Given the description of an element on the screen output the (x, y) to click on. 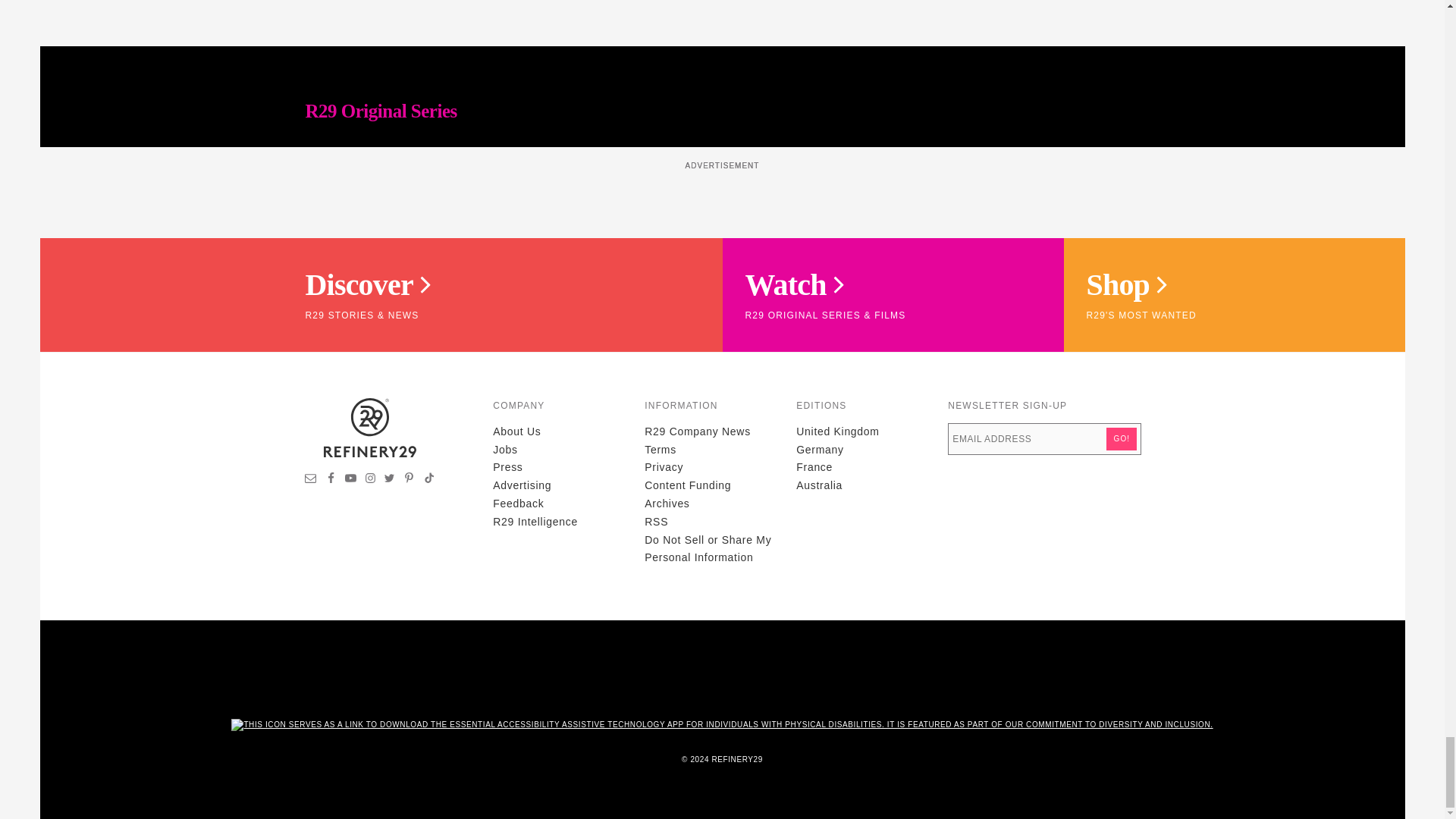
Visit Refinery29 on YouTube (350, 480)
Sign up for newsletters (310, 480)
